Given the description of an element on the screen output the (x, y) to click on. 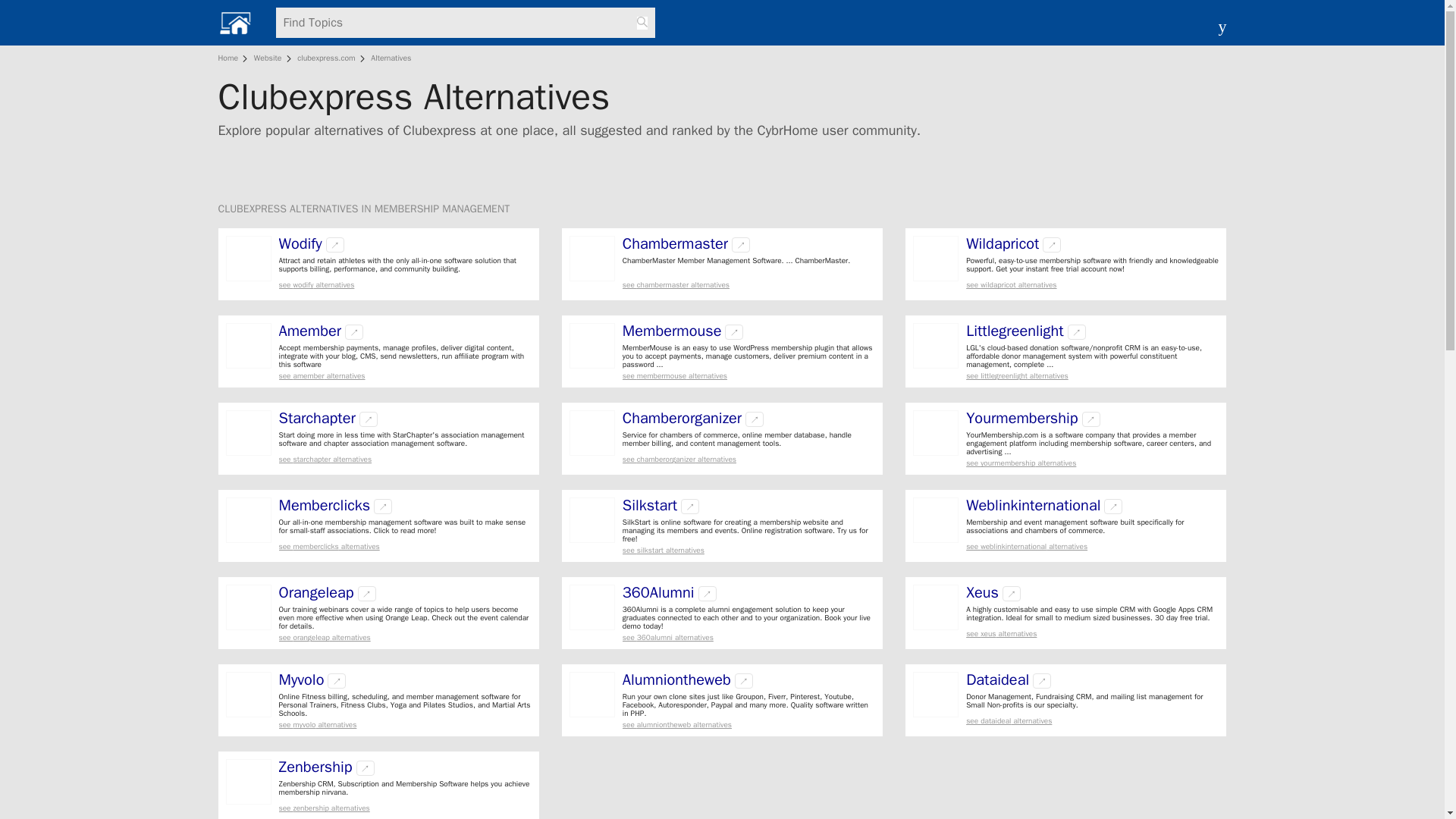
see amember alternatives (405, 375)
see starchapter alternatives (405, 459)
Home (230, 57)
CLUBEXPRESS (253, 208)
Amember (310, 330)
clubexpress.com (325, 57)
Wodify (300, 243)
see wildapricot alternatives (1092, 284)
MEMBERSHIP MANAGEMENT (441, 208)
Membermouse (672, 330)
